Given the description of an element on the screen output the (x, y) to click on. 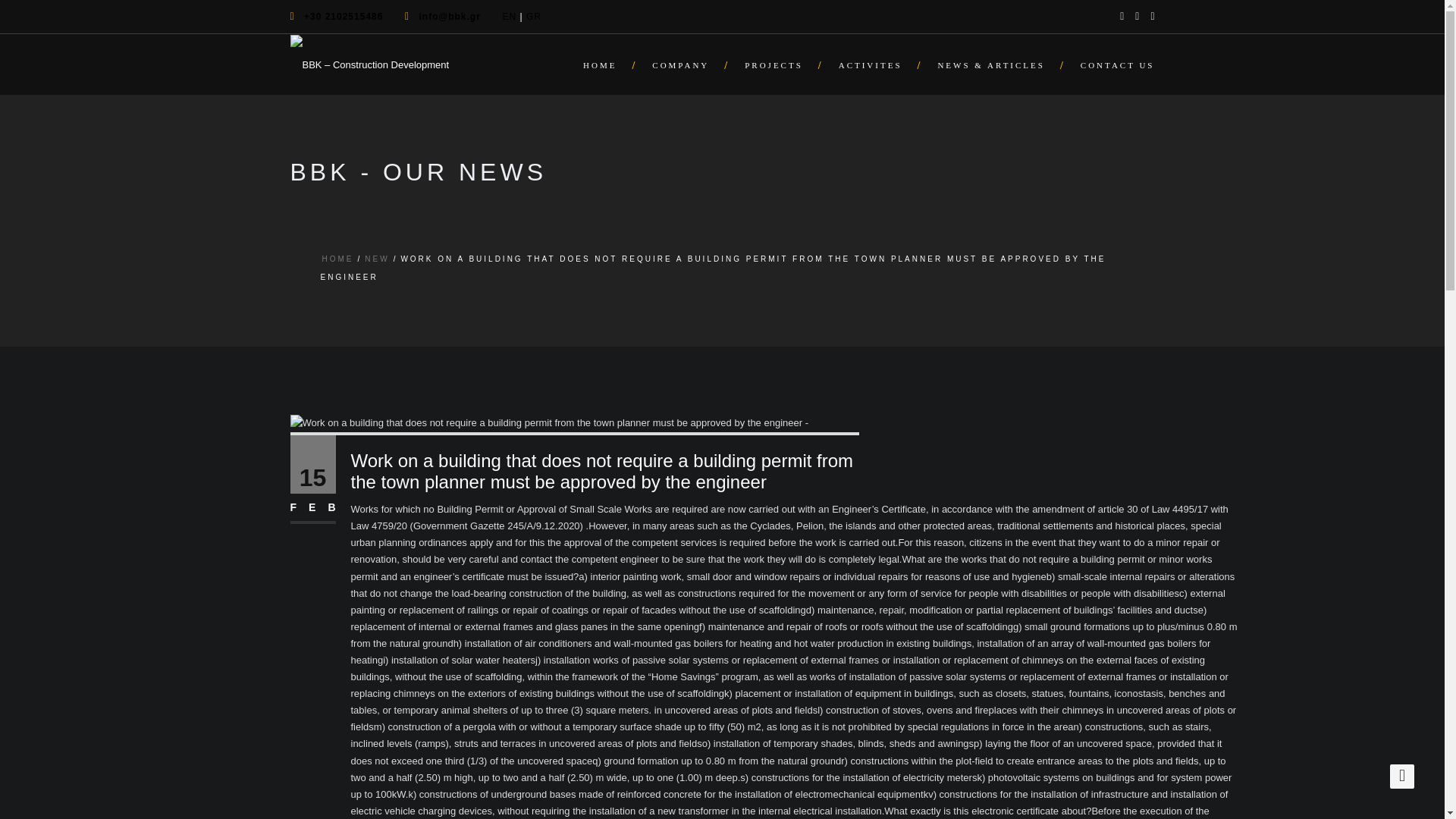
HOME (337, 258)
EN (509, 16)
COMPANY (683, 64)
Projects (775, 64)
NEW (376, 258)
ACTIVITES (873, 64)
GR (533, 16)
COMPANY (683, 64)
ACTIVITES (873, 64)
Home (602, 64)
engineeresign-606.jpg.65dc9ec507c237143777ad6b1e356125 (548, 422)
Contact us (1109, 64)
CONTACT US (1109, 64)
HOME (602, 64)
PROJECTS (775, 64)
